Given the description of an element on the screen output the (x, y) to click on. 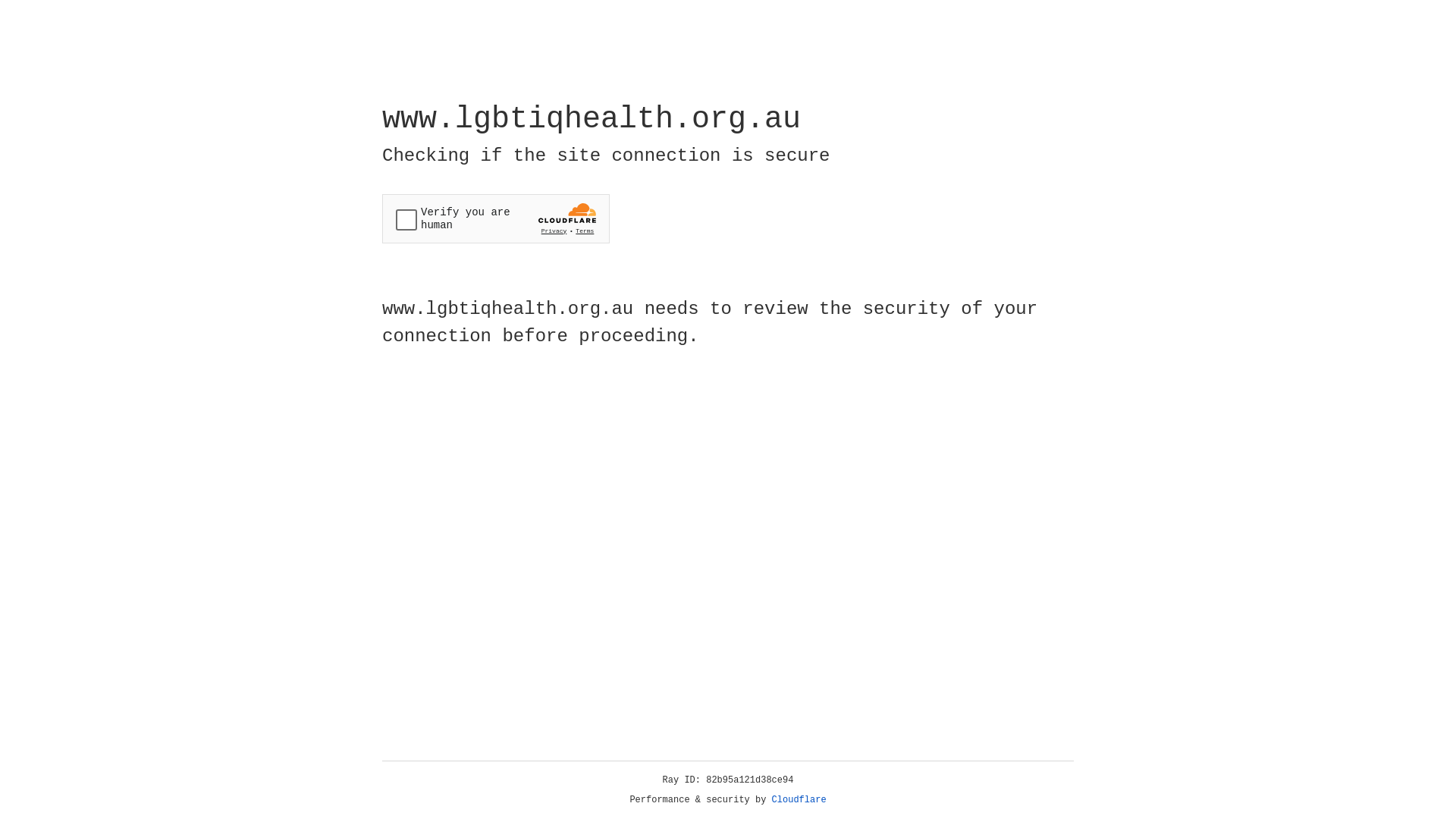
Widget containing a Cloudflare security challenge Element type: hover (495, 218)
Cloudflare Element type: text (798, 799)
